Given the description of an element on the screen output the (x, y) to click on. 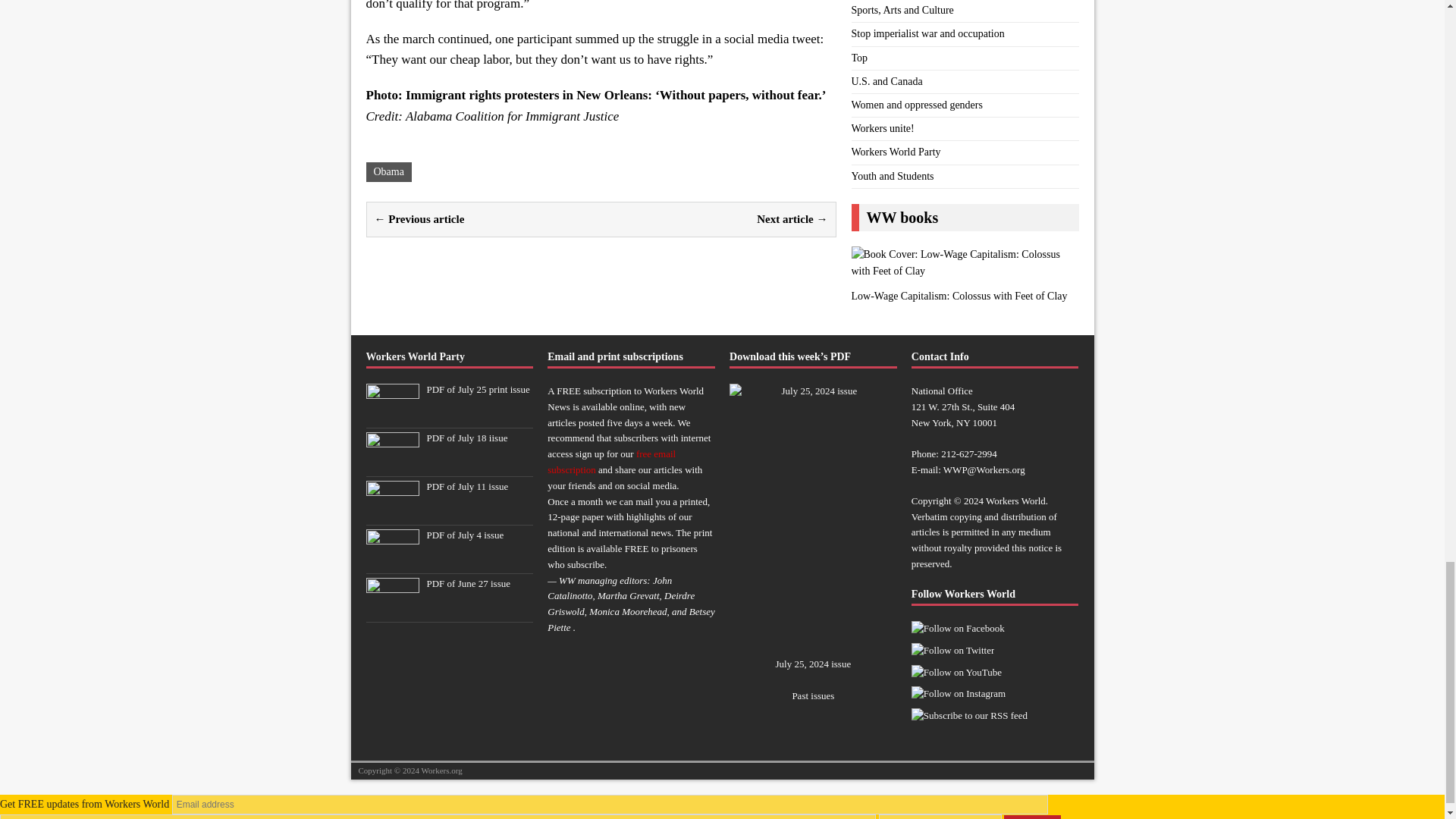
PDF of July 11 issue (467, 486)
PDF of June 27 issue (392, 609)
PDF of July 18 iisue (466, 437)
PDF of June 27 issue (468, 583)
PDF of July 18 iisue (392, 463)
PDF of July 25 print issue (392, 414)
PDF of July 11 issue (392, 511)
PDF of July 4 issue (464, 534)
PDF of July 25 print issue (477, 389)
PDF of July 4 issue (392, 560)
